Given the description of an element on the screen output the (x, y) to click on. 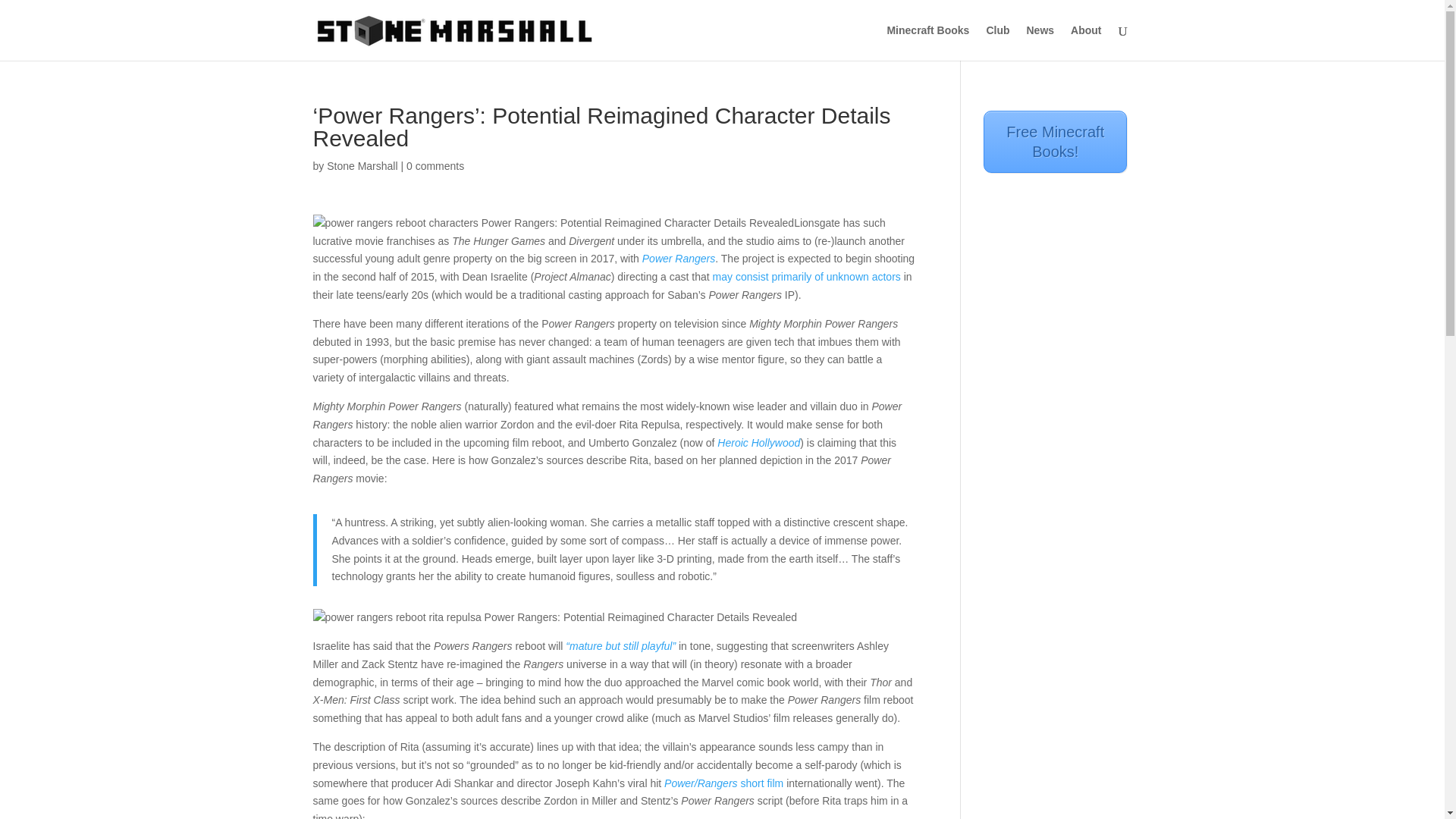
Minecraft Books (927, 42)
Free Minecraft Books! (1055, 141)
0 comments (435, 165)
Posts by Stone Marshall (361, 165)
may consist primarily of unknown actors (807, 276)
Stone Marshall (361, 165)
Power Rangers (679, 258)
Heroic Hollywood (758, 442)
